Given the description of an element on the screen output the (x, y) to click on. 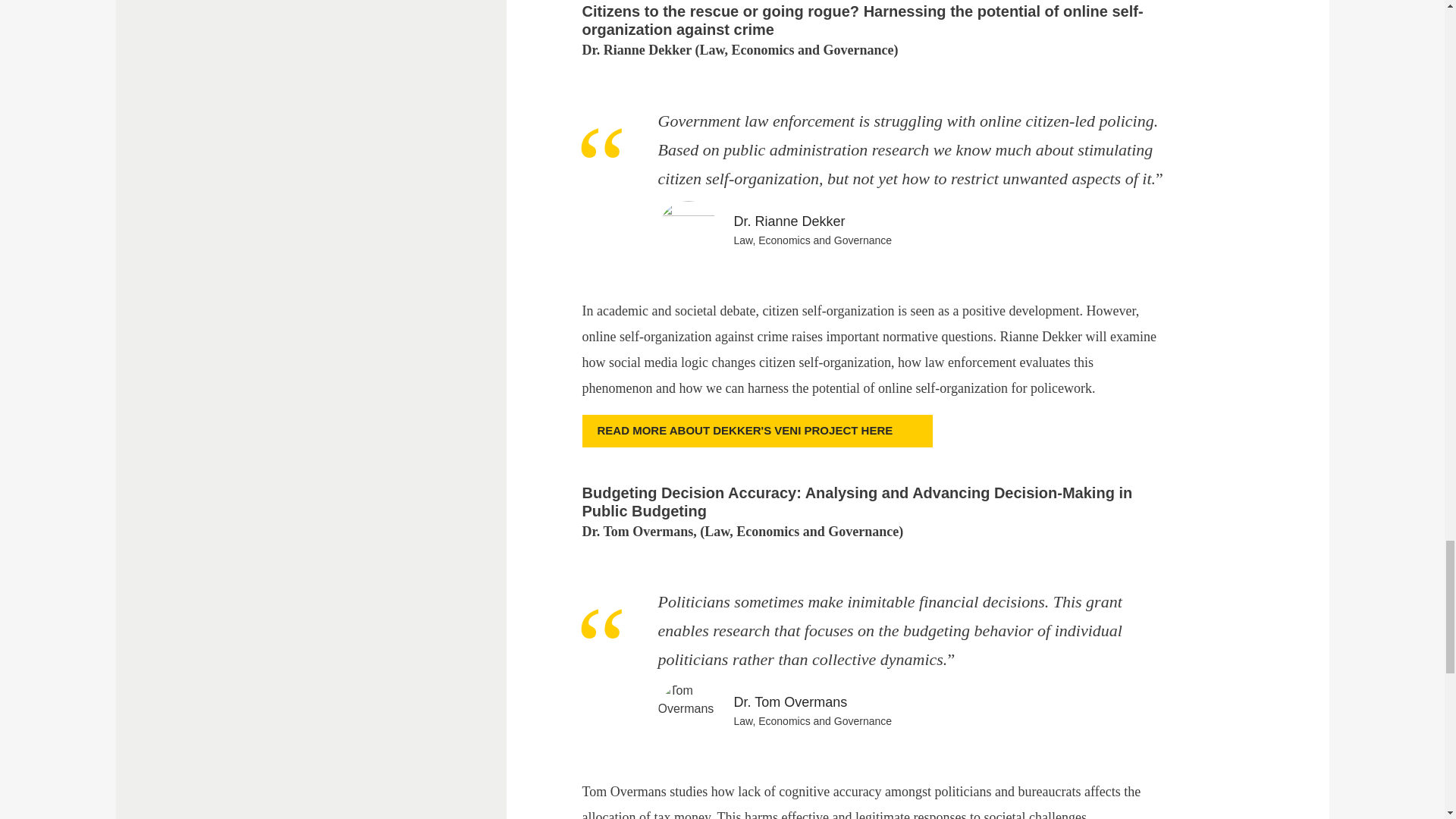
Dr. Rianne Dekker (789, 221)
READ MORE ABOUT DEKKER'S VENI PROJECT HERE (757, 430)
Dr. Tom Overmans (790, 702)
